Given the description of an element on the screen output the (x, y) to click on. 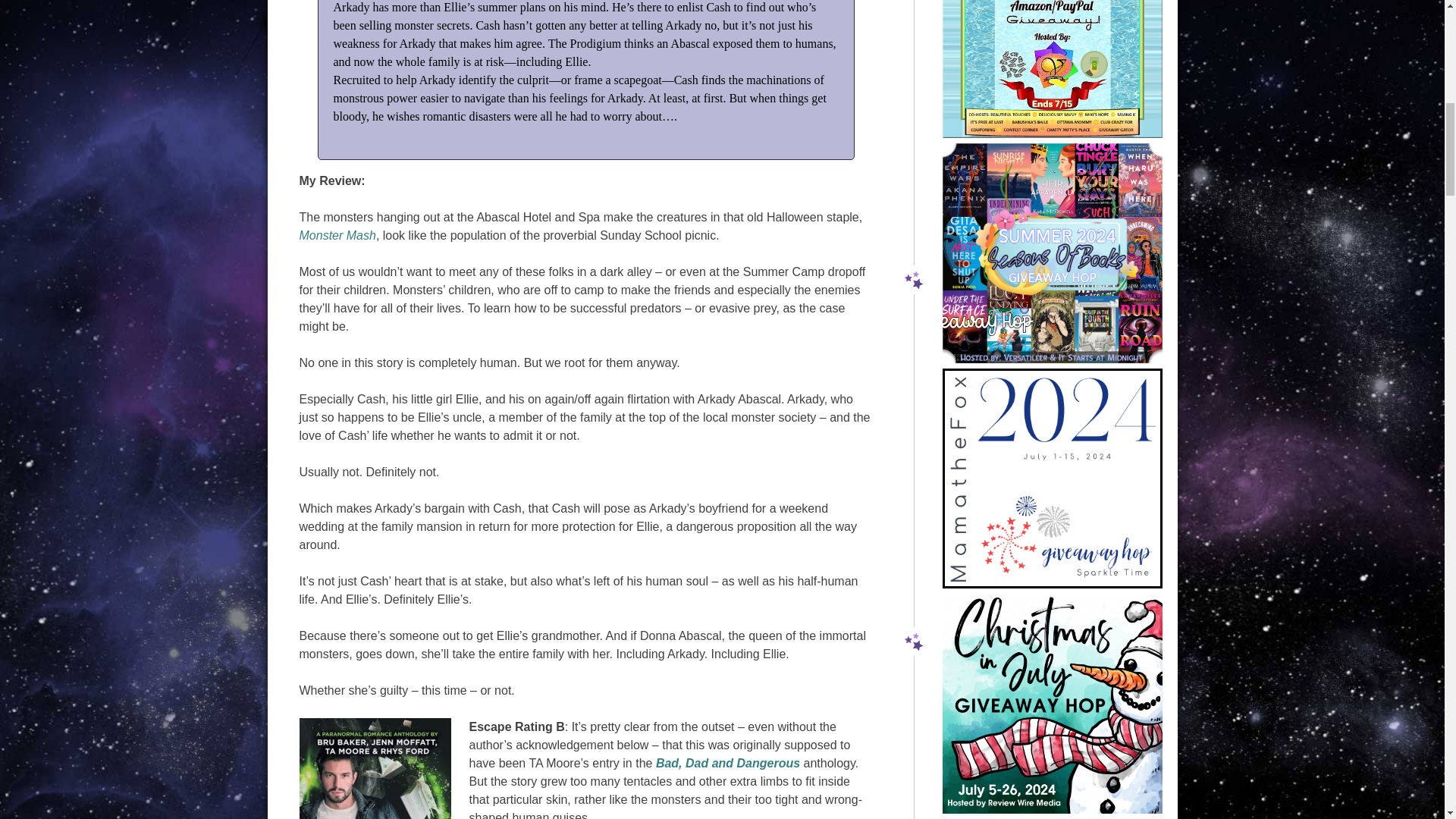
Bad, Dad and Dangerous (727, 762)
Monster Mash (336, 235)
